Given the description of an element on the screen output the (x, y) to click on. 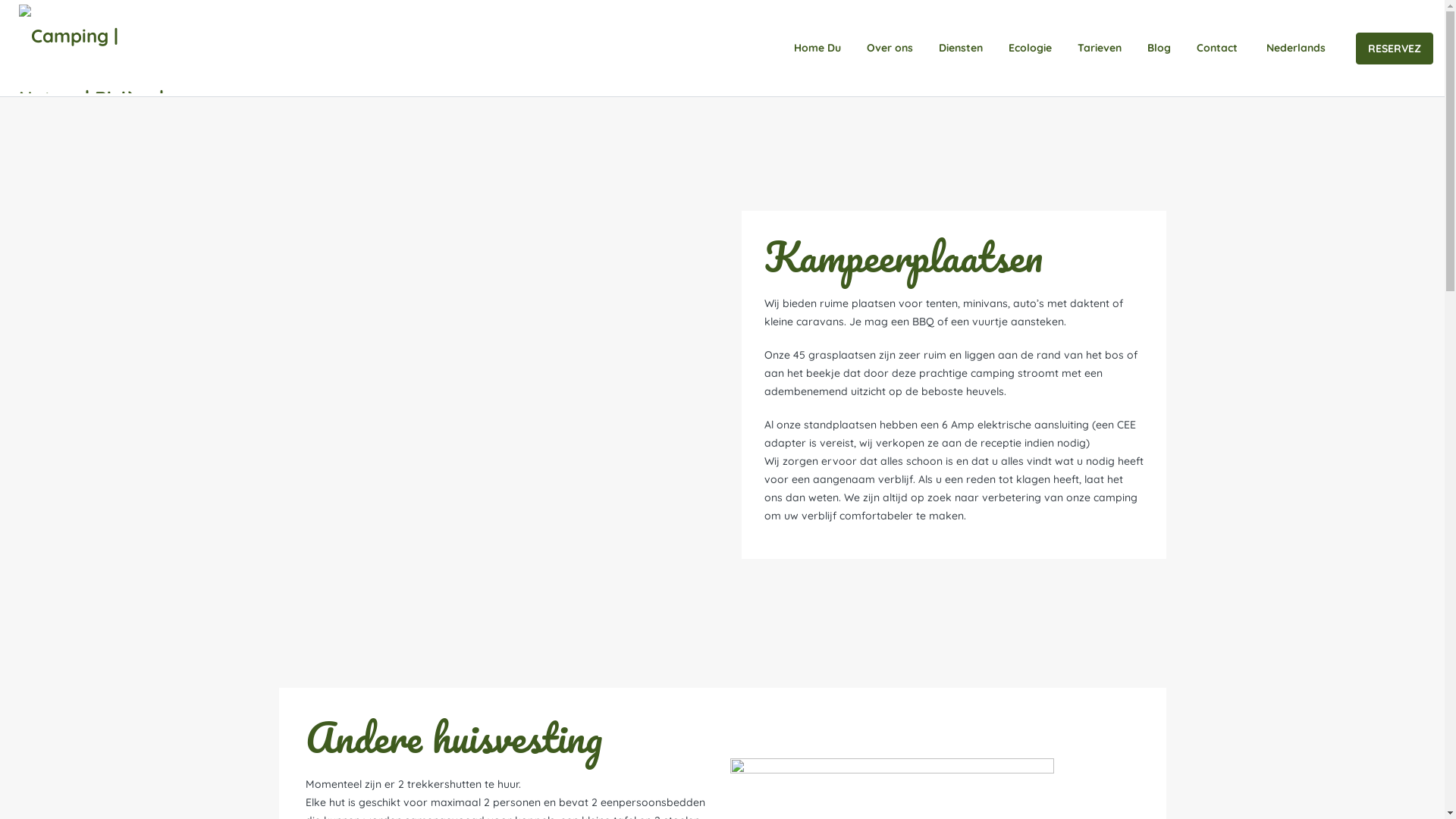
Over ons Element type: text (889, 48)
Contact Element type: text (1216, 48)
Tarieven Element type: text (1099, 48)
Home Du Element type: text (817, 48)
Ecologie Element type: text (1030, 48)
Blog Element type: text (1158, 48)
English Element type: text (1346, 113)
RESERVEZ Element type: text (1394, 47)
Nederlands Element type: text (1294, 48)
Diensten Element type: text (960, 48)
